Given the description of an element on the screen output the (x, y) to click on. 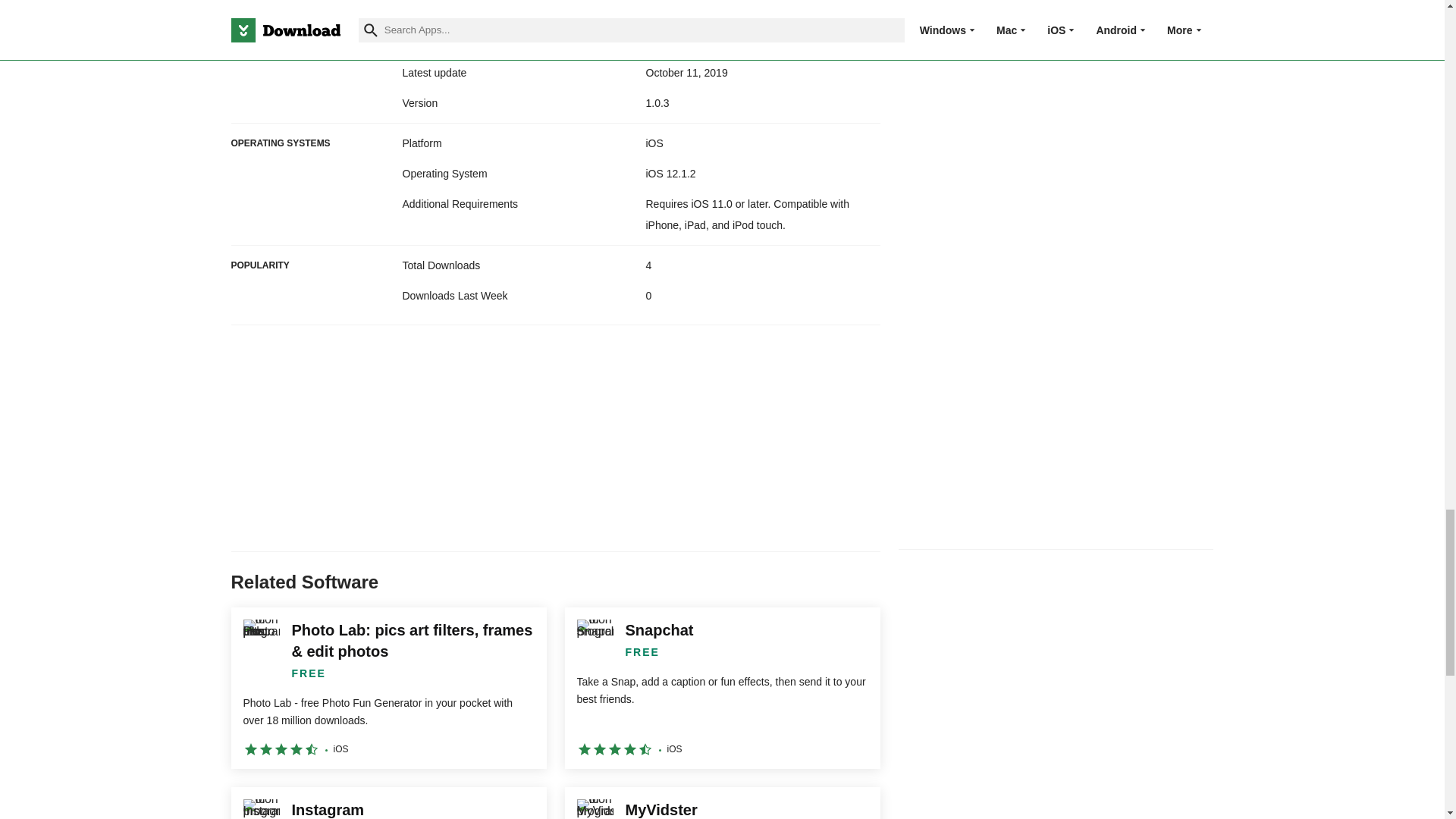
Snapchat (721, 688)
MyVidster (721, 803)
Instagram (388, 803)
